Given the description of an element on the screen output the (x, y) to click on. 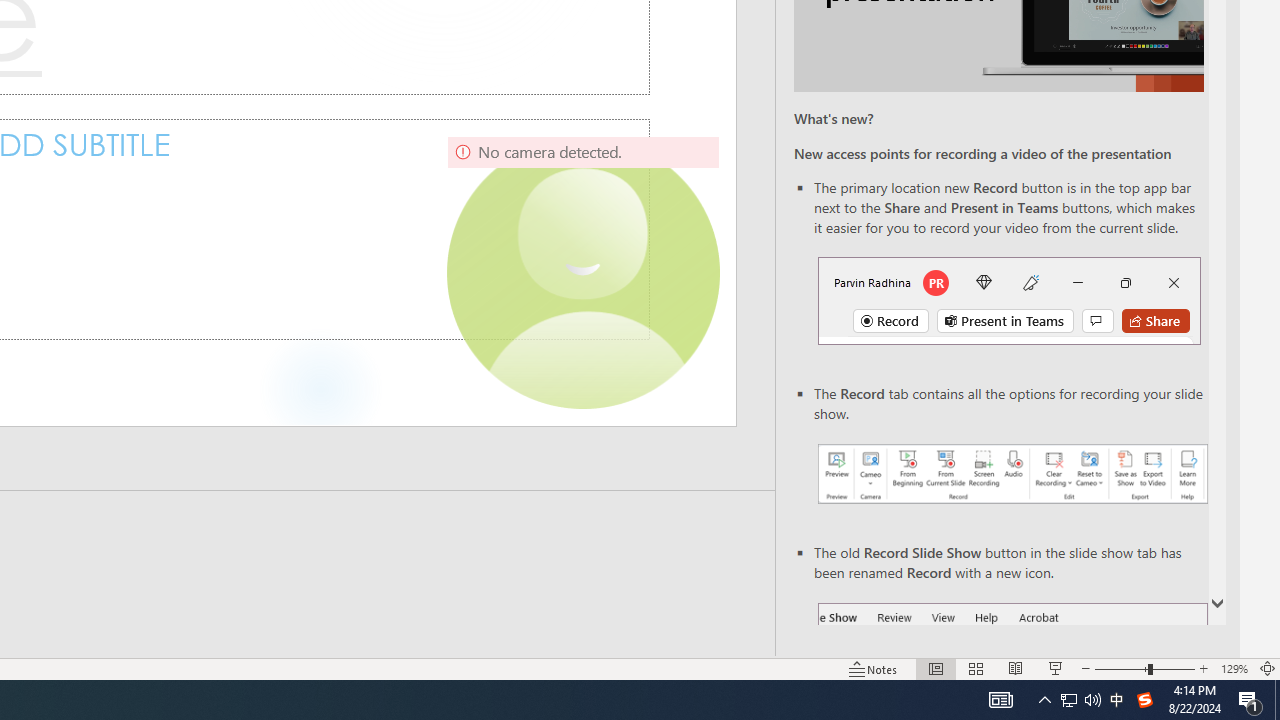
Zoom 129% (1234, 668)
Record button in top bar (1008, 300)
